Given the description of an element on the screen output the (x, y) to click on. 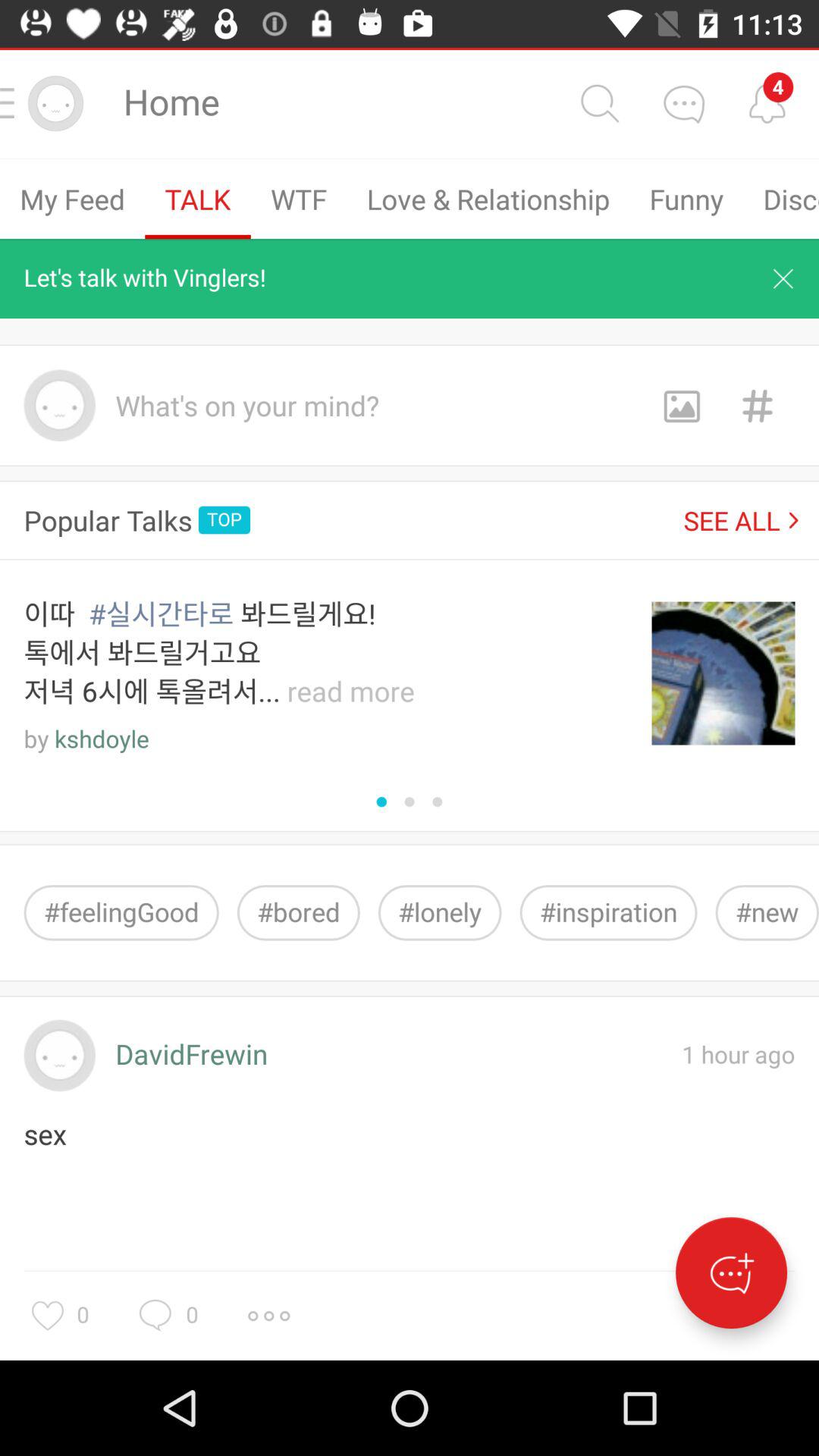
chat (683, 103)
